Given the description of an element on the screen output the (x, y) to click on. 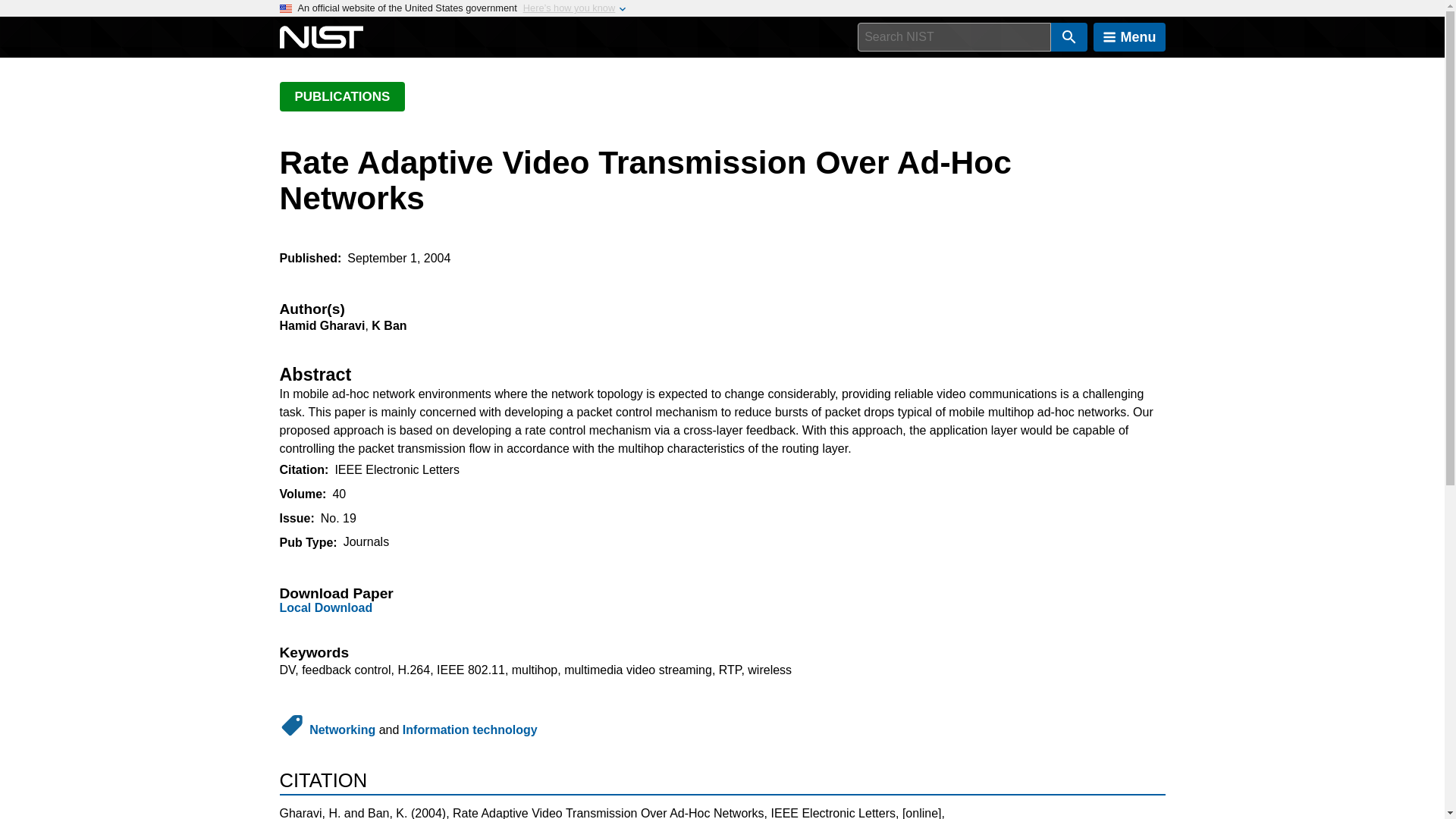
PUBLICATIONS (341, 96)
Networking (341, 729)
Menu (1129, 36)
Information technology (470, 729)
Local Download (325, 607)
National Institute of Standards and Technology (320, 36)
